Given the description of an element on the screen output the (x, y) to click on. 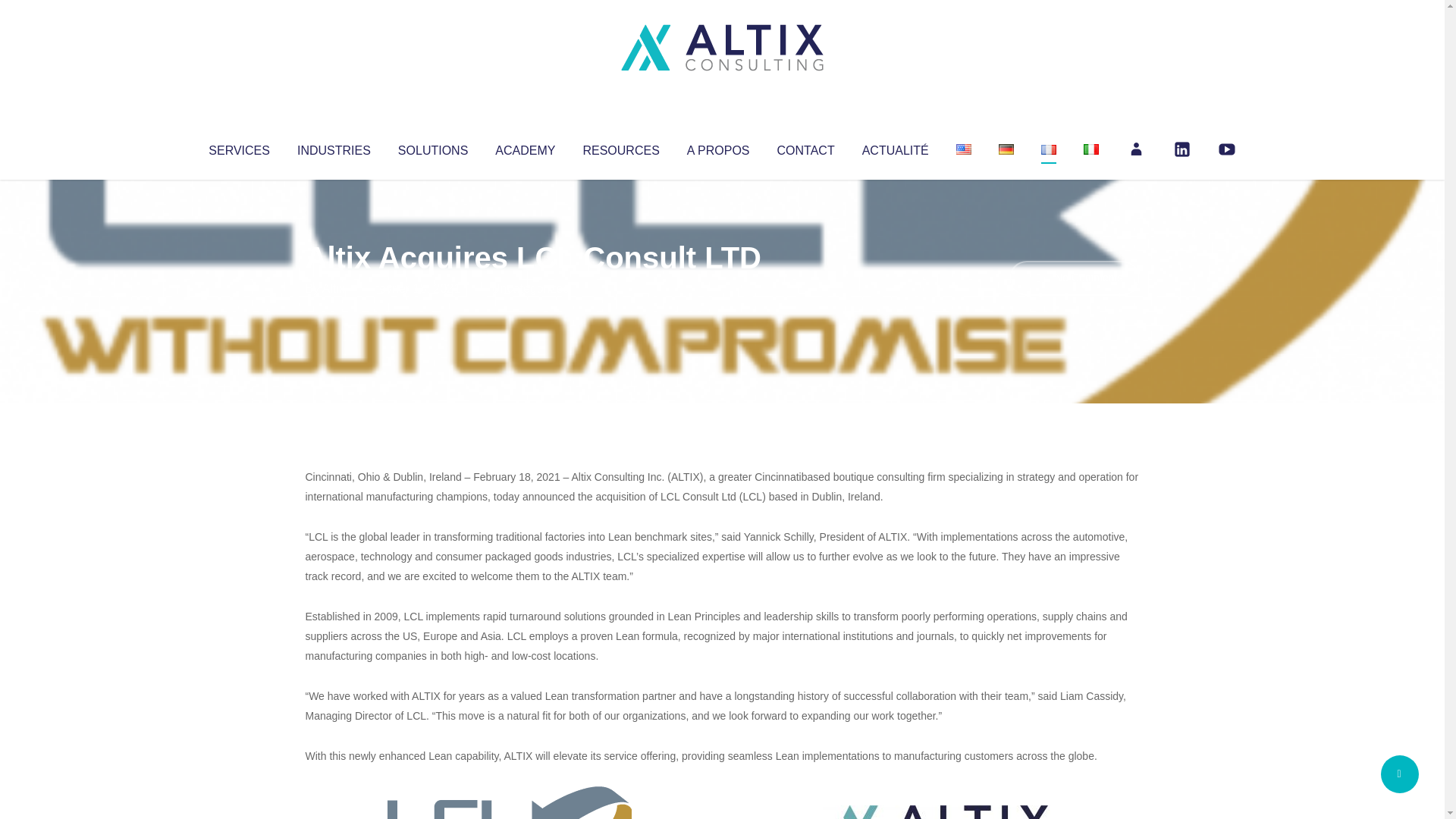
Uncategorized (530, 287)
Articles par Altix (333, 287)
No Comments (1073, 278)
SOLUTIONS (432, 146)
RESOURCES (620, 146)
SERVICES (238, 146)
Altix (333, 287)
INDUSTRIES (334, 146)
ACADEMY (524, 146)
A PROPOS (718, 146)
